Given the description of an element on the screen output the (x, y) to click on. 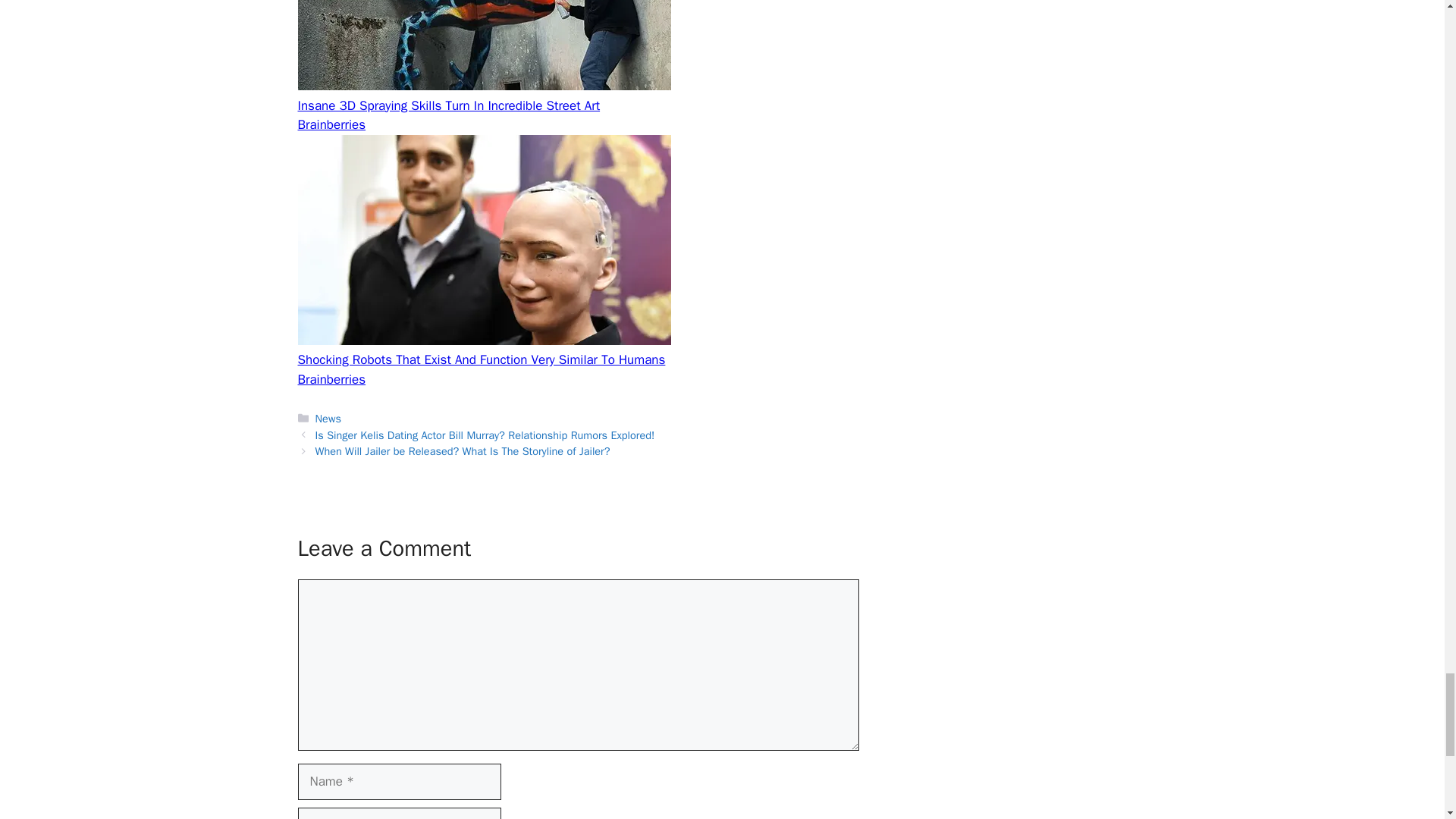
News (327, 418)
